Given the description of an element on the screen output the (x, y) to click on. 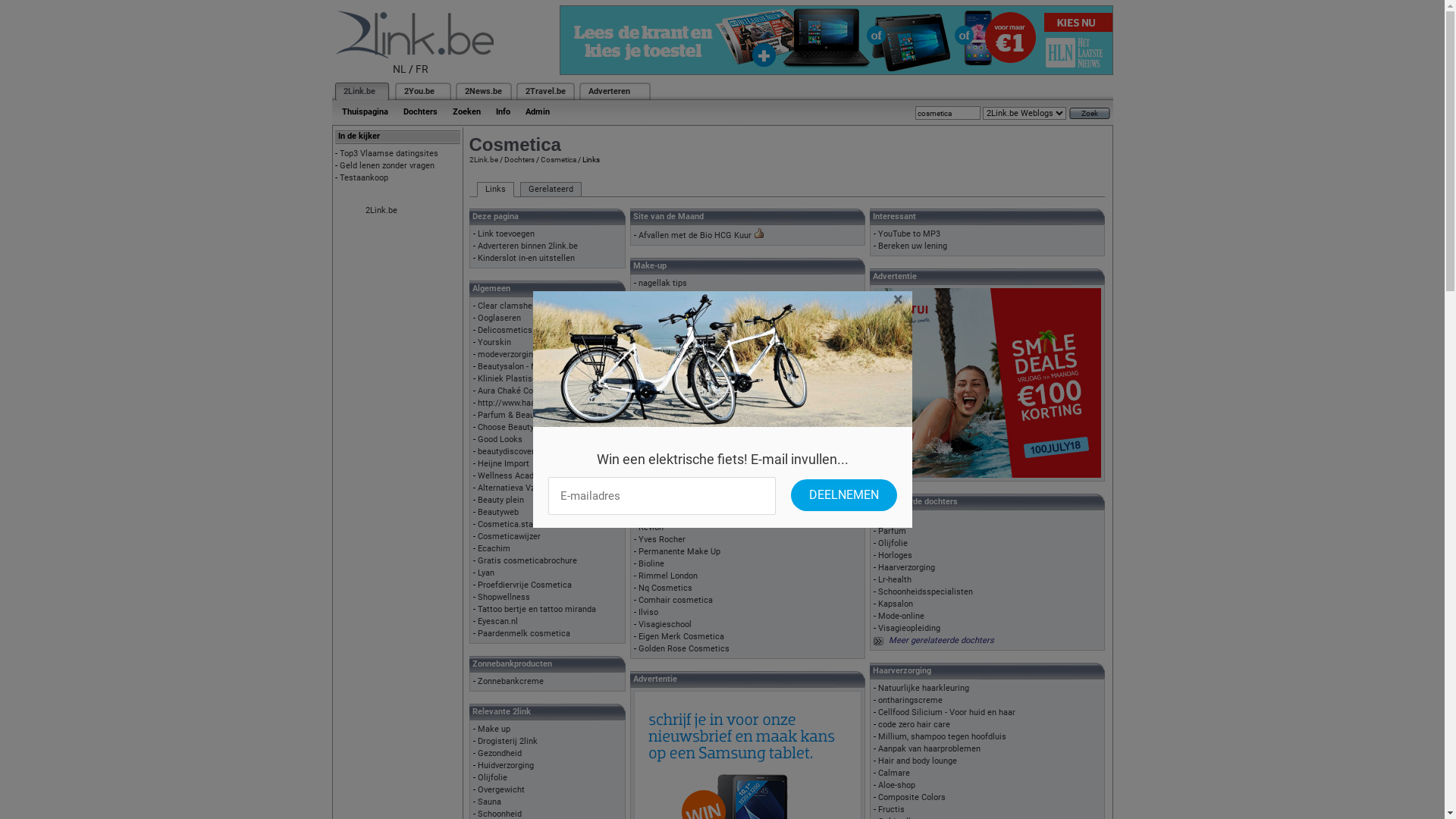
Nathalia Ghafari - make-up & hair artist Element type: text (712, 380)
Beauty plein Element type: text (500, 500)
Millium, shampoo tegen hoofdluis Element type: text (942, 736)
Revlon Element type: text (650, 527)
ontharingscreme Element type: text (910, 700)
L'oreal Element type: text (650, 503)
beautydiscover Element type: text (505, 451)
Olijfolie Element type: text (892, 543)
Olijfolie Element type: text (492, 777)
FR Element type: text (421, 68)
Calmare Element type: text (894, 773)
NL Element type: text (399, 68)
Choose Beauty Element type: text (505, 427)
Forever Living Products Element type: text (682, 466)
2Travel.be Element type: text (544, 91)
Bioline Element type: text (651, 563)
Paardenmelk cosmetica Element type: text (523, 633)
Dochters Element type: text (518, 159)
Chanel Element type: text (651, 442)
www.colorvisign.be Element type: text (674, 343)
Eyescan.nl Element type: text (497, 621)
Testaankoop Element type: text (363, 177)
Beautysalon - Magazine Element type: text (522, 366)
Yourskin Element type: text (494, 342)
Proefdiervrije Cosmetica Element type: text (524, 584)
modeverzorging Element type: text (507, 354)
code zero hair care Element type: text (914, 724)
Tattoo bertje en tattoo miranda Element type: text (536, 609)
Bruidsmakeup.be aan huis Element type: text (688, 355)
Biotherm Element type: text (655, 430)
Aveda Element type: text (649, 418)
Zoek Element type: text (1089, 113)
Fructis Element type: text (891, 809)
Heijne Import Element type: text (503, 463)
Comhair cosmetica Element type: text (675, 600)
2You.be Element type: text (418, 91)
Permanente Make Up Element type: text (679, 551)
Cellfood Silicium - Voor huid en haar Element type: text (946, 712)
Permanente Make-up Element type: text (678, 406)
Natuurlijke haarkleuring Element type: text (923, 688)
nagellak tips Element type: text (662, 283)
Beautyweb Element type: text (497, 512)
Gerelateerd Element type: text (550, 189)
Wellness Academie Element type: text (514, 475)
Alternatieva Vzw Element type: text (508, 487)
Ooglaseren Element type: text (498, 318)
Meer gerelateerde dochters Element type: text (941, 640)
Rimmel London Element type: text (667, 575)
Sauna Element type: text (489, 801)
2Link.be Element type: text (358, 91)
Cosmetica Element type: text (557, 159)
2Link.be Element type: text (482, 159)
Admin Element type: text (536, 111)
Links Element type: text (494, 189)
Schoonheidsspecialisten Element type: text (925, 591)
Styling Element type: text (651, 319)
Make-up Element type: text (894, 519)
Adverteren binnen 2link.be Element type: text (527, 246)
Ecachim Element type: text (493, 548)
Dior Element type: text (645, 454)
Zonnebankcreme Element type: text (510, 681)
Eigen Merk Cosmetica Element type: text (681, 636)
Visagieopleiding Element type: text (909, 628)
2Link.be Element type: text (381, 210)
Clear clamshell containers Element type: text (528, 305)
Composite Colors Element type: text (911, 797)
Lippenstift, de rode verleiding Element type: text (693, 368)
Hair and body lounge Element type: text (917, 760)
Overgewicht Element type: text (500, 789)
Cosmetica.startkabel Element type: text (518, 524)
Curieux Element type: text (652, 392)
Haarverzorging Element type: text (906, 567)
Aanpak van haarproblemen Element type: text (929, 748)
Info Element type: text (502, 111)
Mayrose Element type: text (654, 295)
Gratis cosmeticabrochure Element type: text (527, 560)
Thuispagina Element type: text (364, 111)
Parfum & Beauty Element type: text (509, 415)
Horloges Element type: text (895, 555)
Zoeken Element type: text (465, 111)
Good Looks Element type: text (499, 439)
http://www.haarkliniek.com Element type: text (529, 402)
Delicosmetics Element type: text (504, 330)
Shopwellness Element type: text (503, 597)
Parfum Element type: text (892, 531)
Link toevoegen Element type: text (505, 233)
Maybelline Element type: text (658, 515)
Visagieschool Element type: text (664, 624)
Lyan Element type: text (485, 572)
Nq Cosmetics Element type: text (665, 588)
Geld lenen zonder vragen Element type: text (386, 165)
Bereken uw lening Element type: text (912, 246)
Lr-health Element type: text (894, 579)
Top3 Vlaamse datingsites Element type: text (388, 153)
Kliniek Plastische Chirurgie Element type: text (529, 378)
Kapsalon Element type: text (895, 603)
Huidverzorging Element type: text (505, 765)
Cosmeticawijzer Element type: text (508, 536)
YouTube to MP3 Element type: text (909, 233)
Ilviso Element type: text (648, 612)
Yves Rocher Element type: text (661, 539)
Mode-online Element type: text (901, 616)
Lancome Element type: text (655, 490)
2News.be Element type: text (482, 91)
Kinderslot in-en uitstellen Element type: text (525, 258)
Afvallen met de Bio HCG Kuur Element type: text (694, 235)
Aloe-shop Element type: text (896, 785)
Adverteren Element type: text (609, 91)
Make up Element type: text (493, 729)
Permanente Make-up Ravenstein Element type: text (700, 331)
Drogisterij 2link Element type: text (507, 741)
Gezondheid Element type: text (499, 753)
Dochters Element type: text (420, 111)
Jana Cosmetics Element type: text (668, 478)
Golden Rose Cosmetics Element type: text (683, 648)
Beauty Cosmetics Nouveau Contour Element type: text (706, 307)
